Given the description of an element on the screen output the (x, y) to click on. 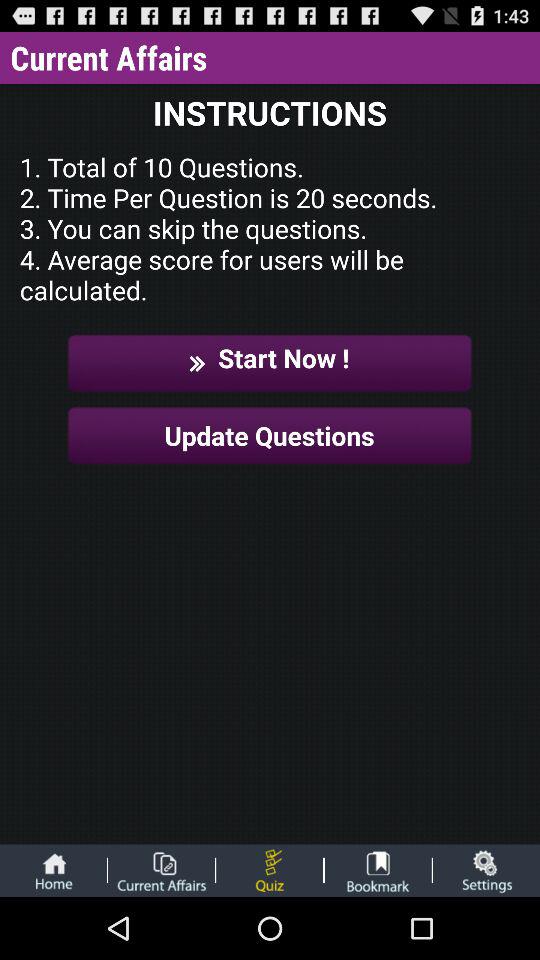
go back to homepage (53, 870)
